Given the description of an element on the screen output the (x, y) to click on. 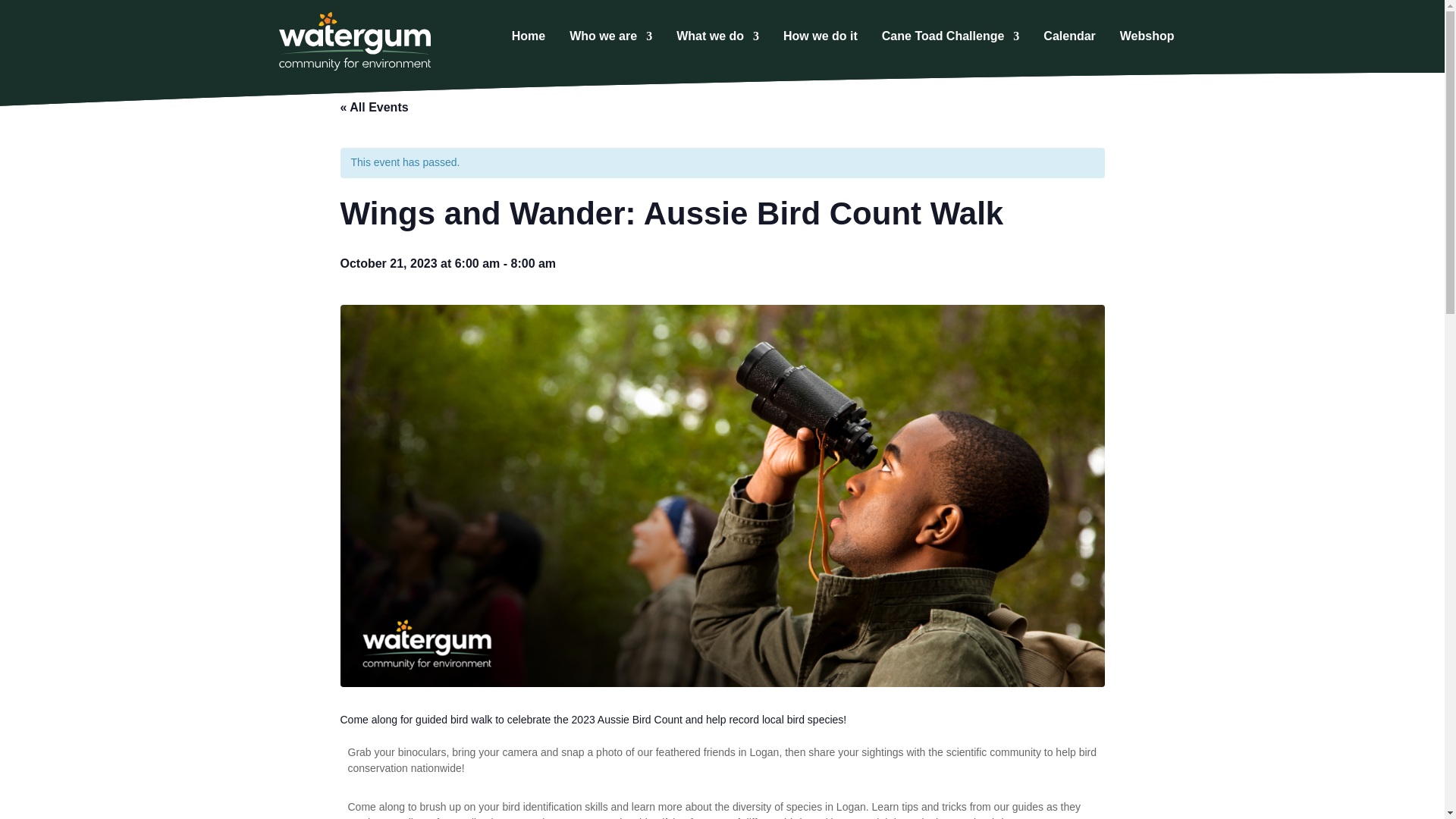
Cane Toad Challenge (951, 38)
What we do (717, 38)
Who we are (610, 38)
How we do it (820, 38)
